Given the description of an element on the screen output the (x, y) to click on. 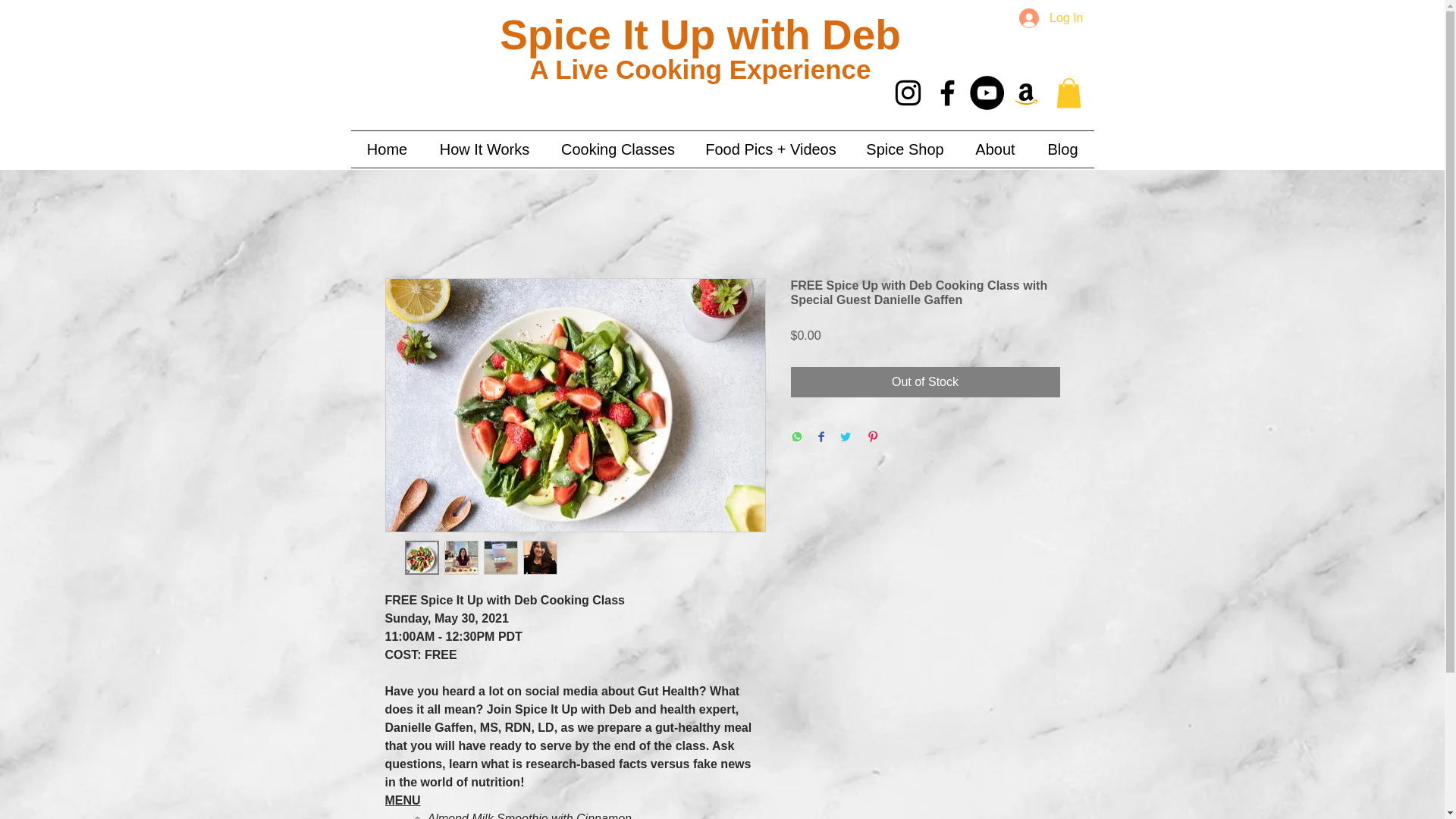
About (994, 149)
How It Works (483, 149)
Cooking Classes (618, 149)
Home (386, 149)
Out of Stock (924, 381)
Blog (1061, 149)
Log In (1051, 18)
Spice Shop (904, 149)
